Given the description of an element on the screen output the (x, y) to click on. 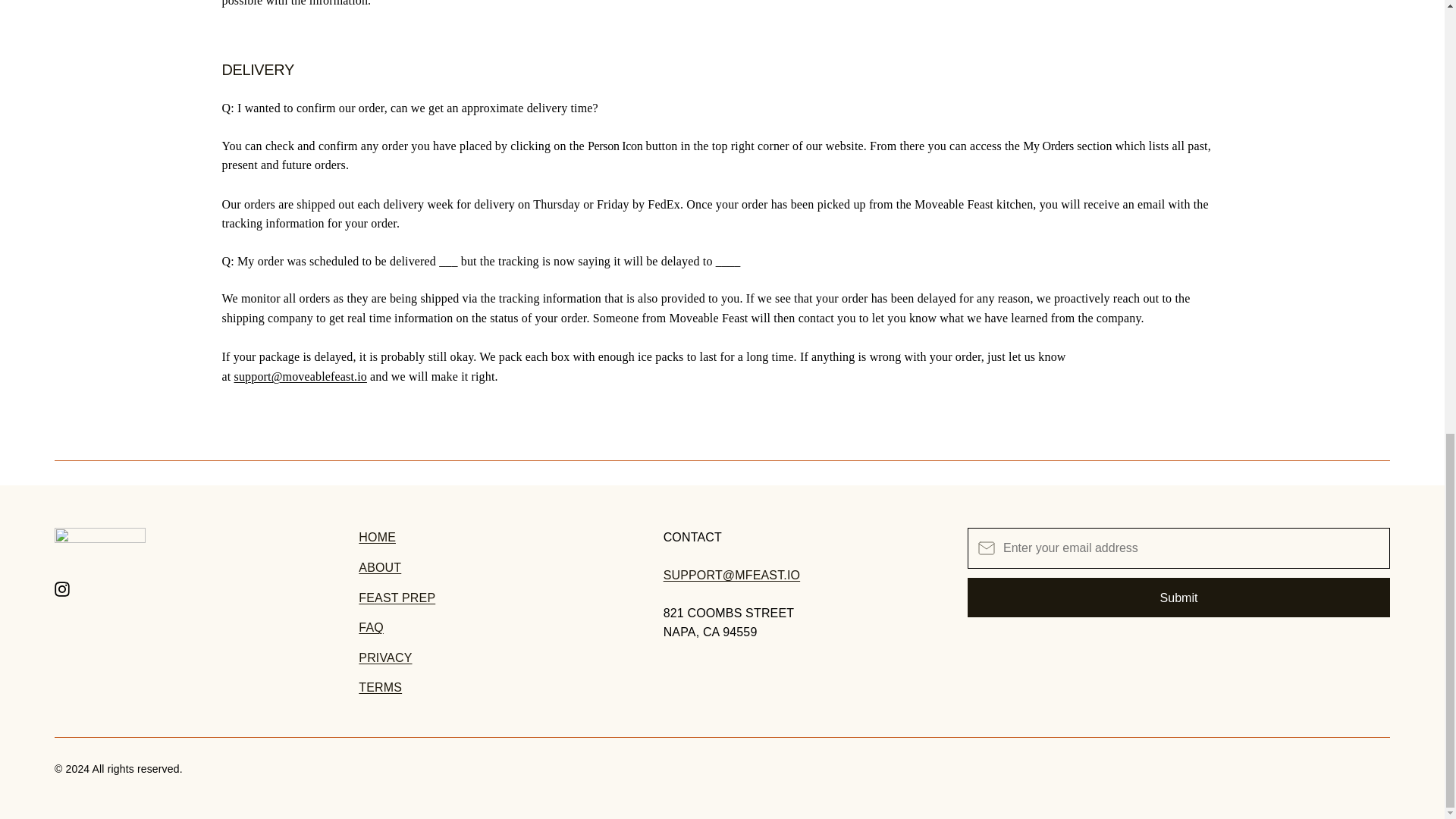
FAQ (371, 626)
HOME (377, 536)
TERMS (379, 686)
ABOUT (379, 567)
FEAST PREP (396, 597)
PRIVACY (385, 657)
